Given the description of an element on the screen output the (x, y) to click on. 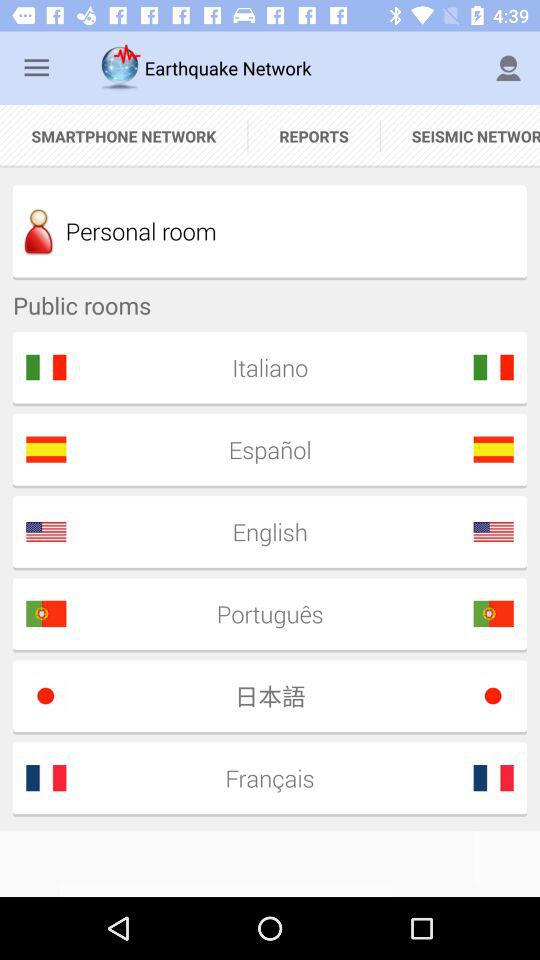
click icon above personal room item (460, 136)
